Given the description of an element on the screen output the (x, y) to click on. 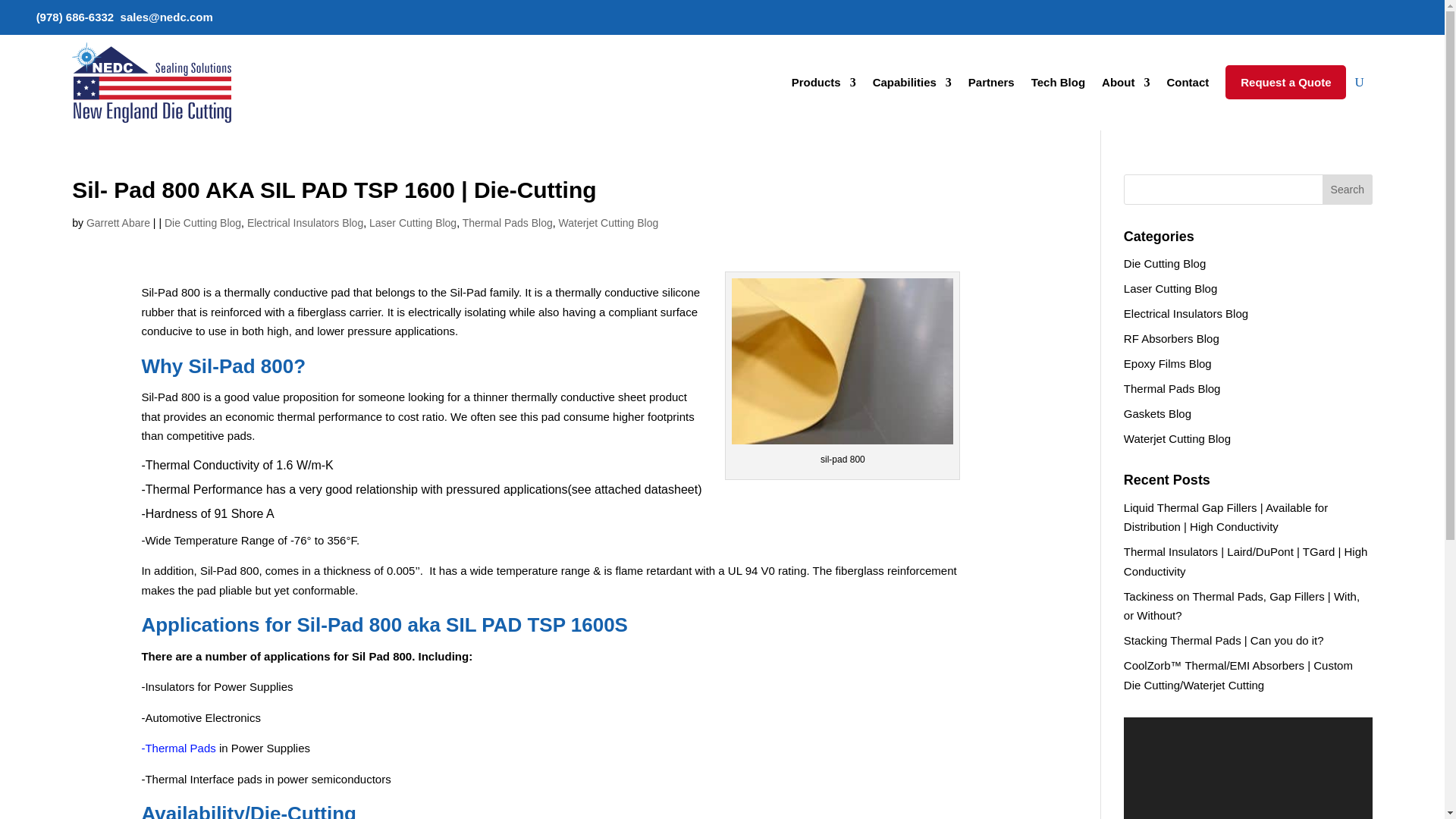
Posts by Garrett Abare (117, 223)
Search (1347, 189)
Products (824, 82)
